Given the description of an element on the screen output the (x, y) to click on. 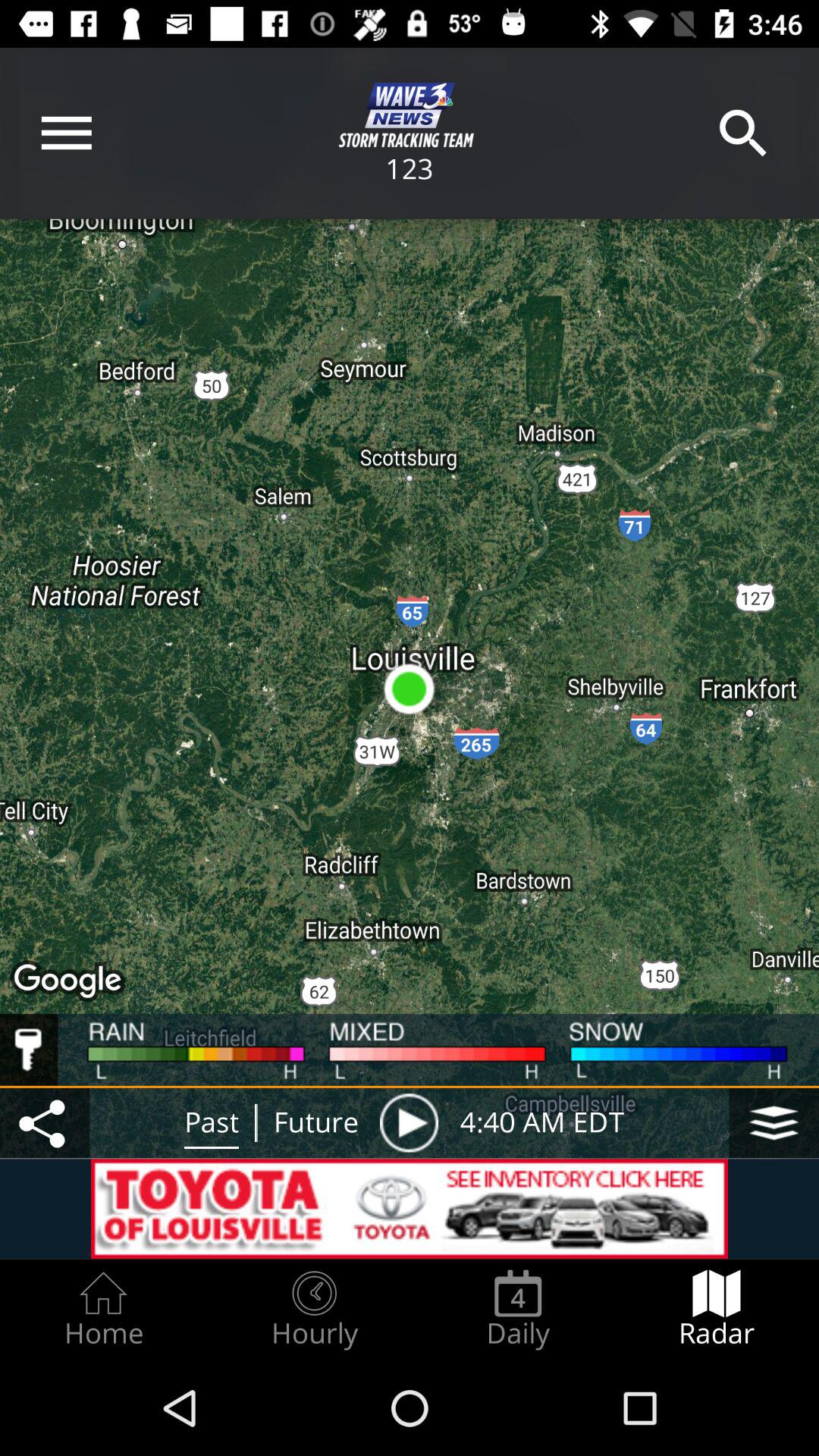
choose radio button to the left of daily icon (314, 1309)
